Given the description of an element on the screen output the (x, y) to click on. 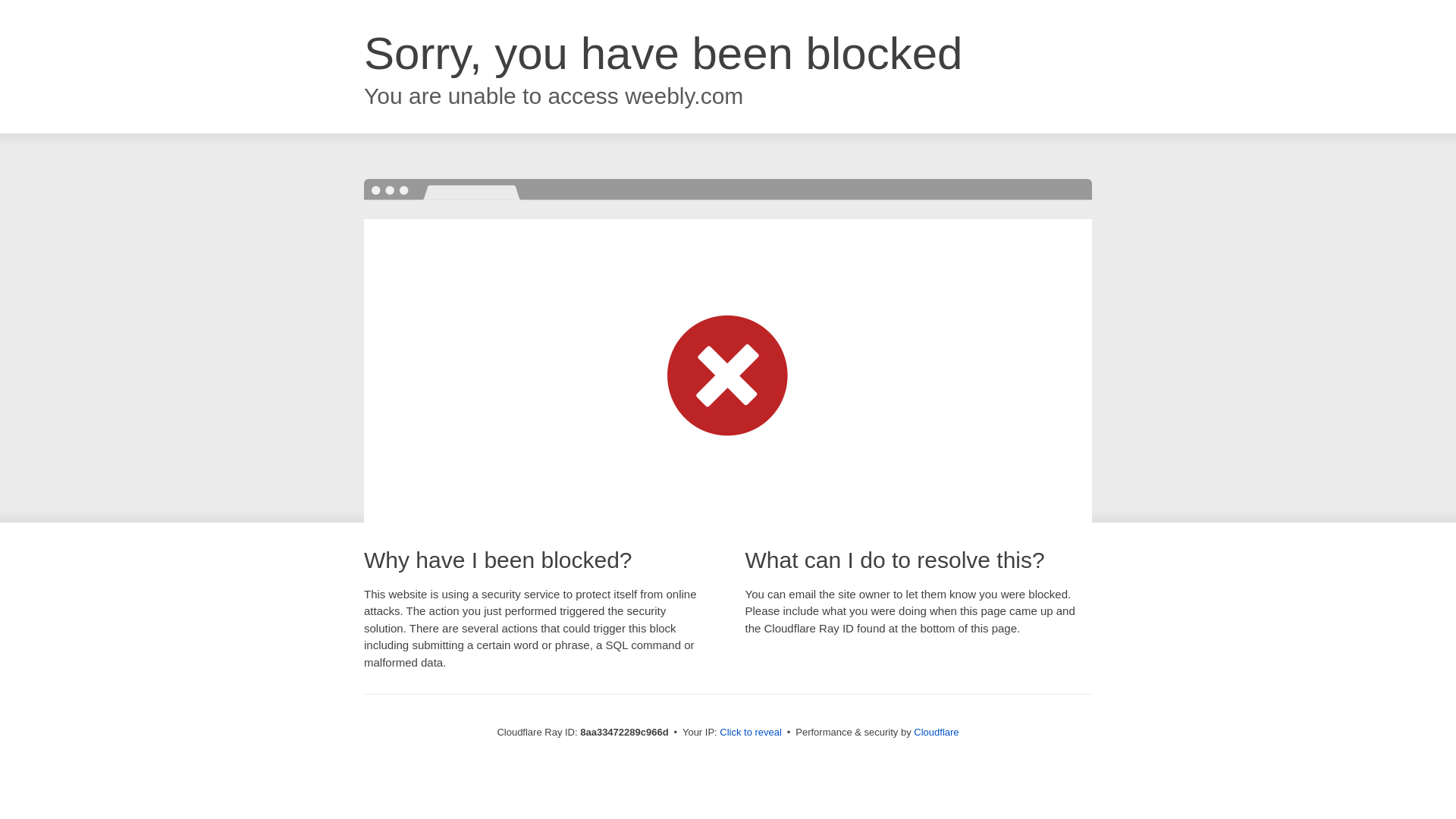
Cloudflare (936, 731)
Click to reveal (750, 732)
